Given the description of an element on the screen output the (x, y) to click on. 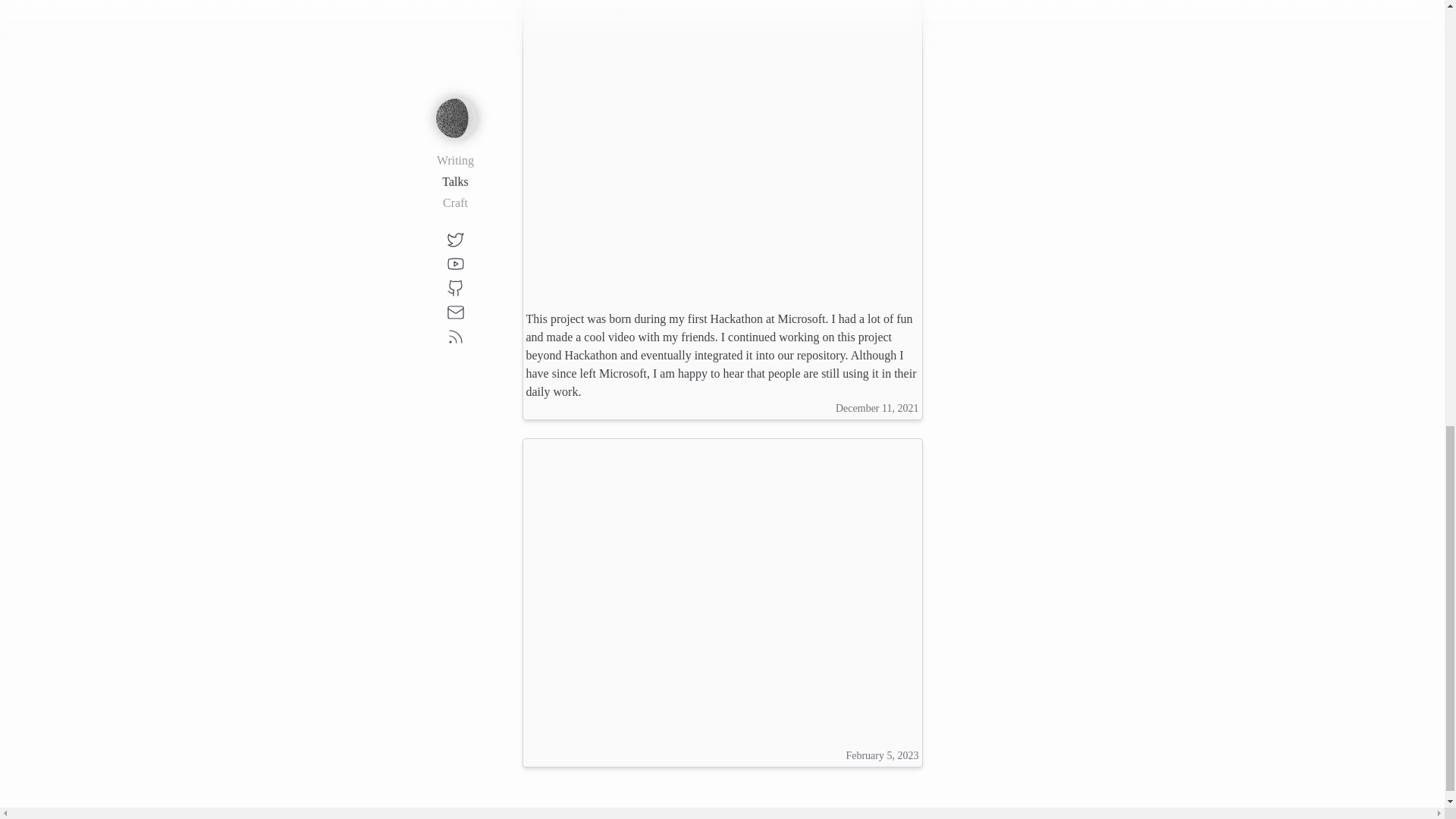
Advanced TypeScript (721, 150)
E2E testing with Playwright (721, 588)
